Given the description of an element on the screen output the (x, y) to click on. 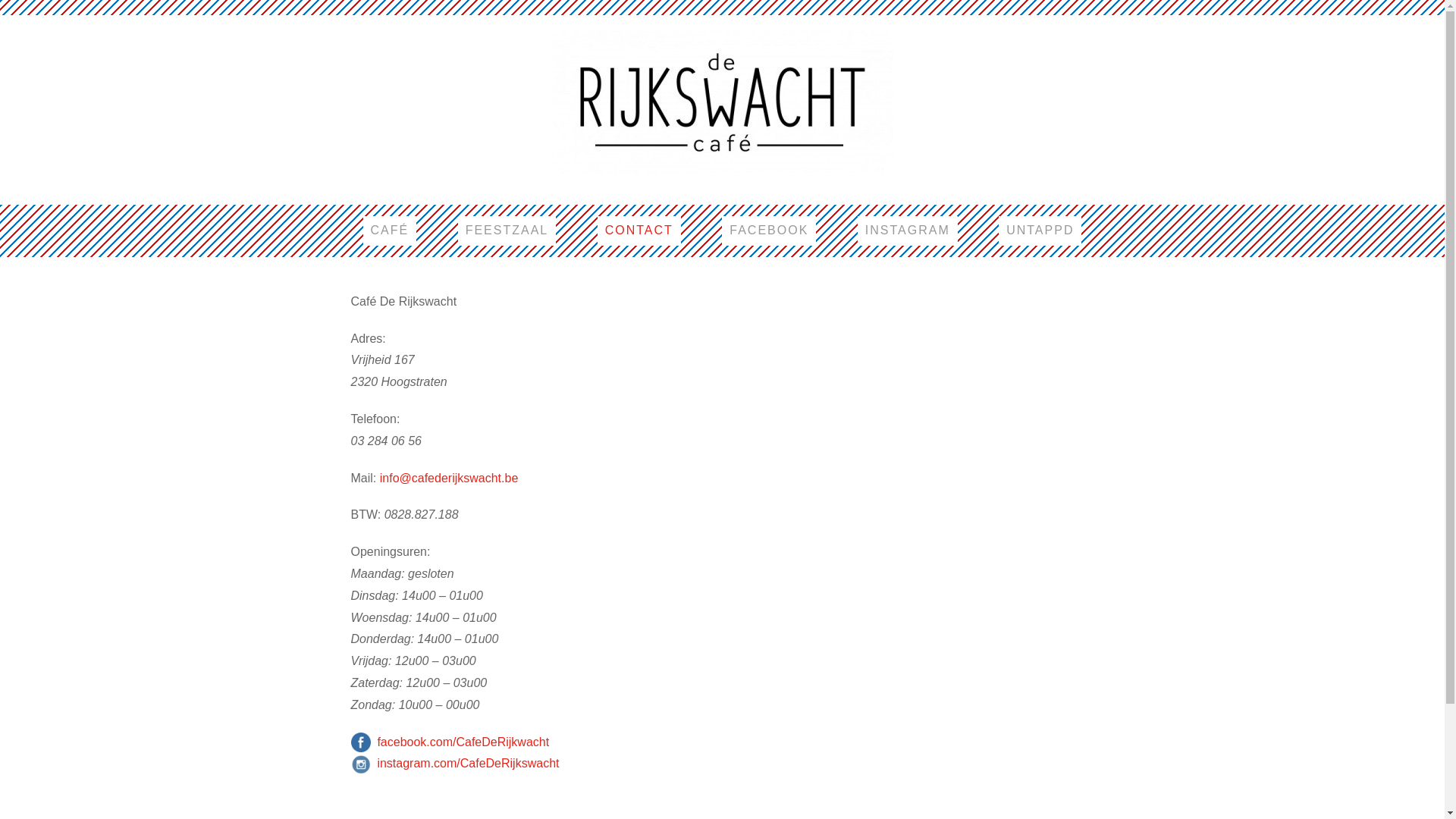
INSTAGRAM Element type: text (907, 230)
CONTACT Element type: text (638, 230)
info@cafederijkswacht.be Element type: text (448, 477)
UNTAPPD Element type: text (1039, 230)
instagram.com/CafeDeRijkswacht Element type: text (467, 762)
FACEBOOK Element type: text (768, 230)
facebook.com/CafeDeRijkwacht Element type: text (462, 741)
FEESTZAAL Element type: text (507, 230)
